Given the description of an element on the screen output the (x, y) to click on. 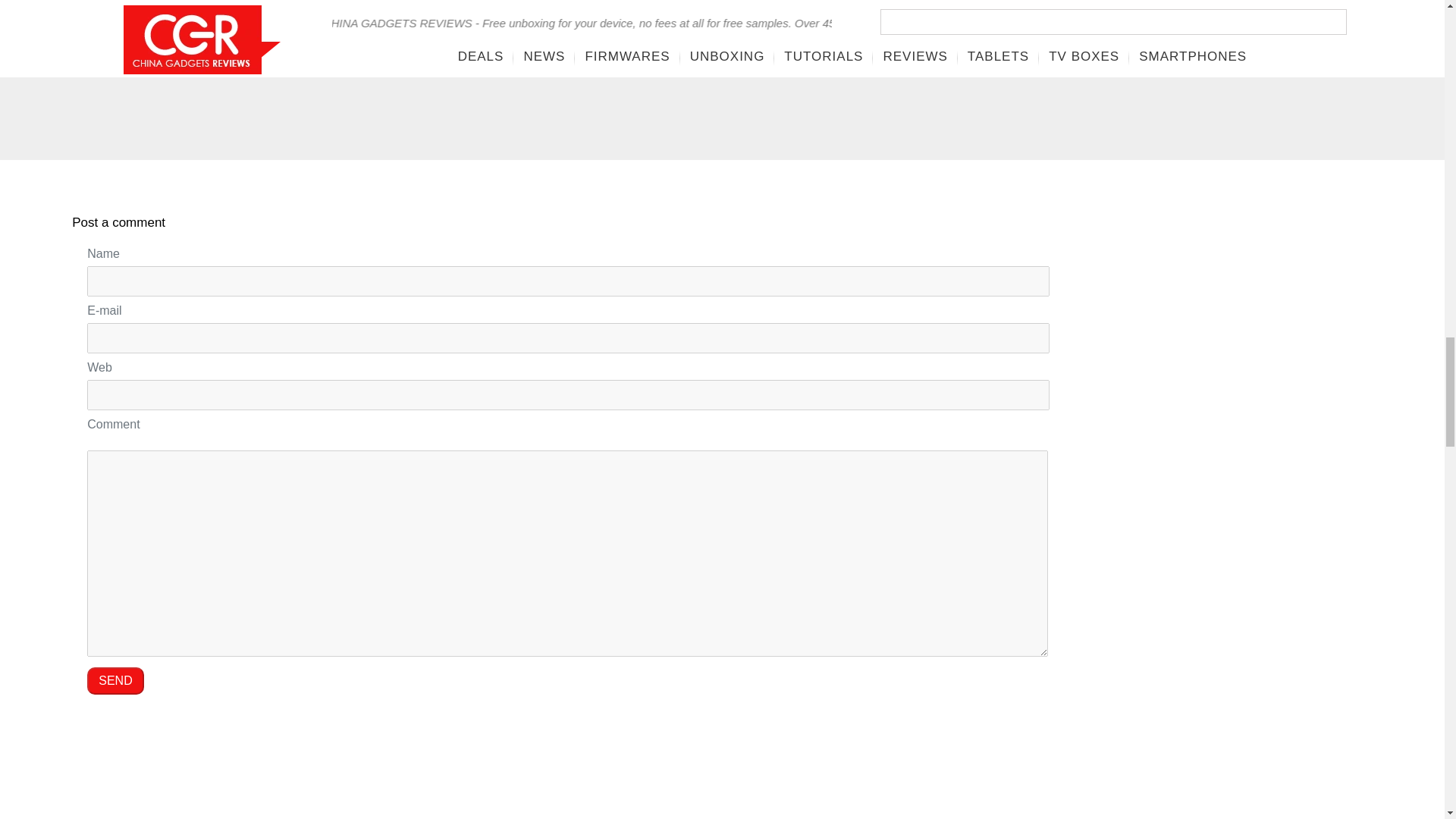
Advertisement (1267, 804)
Advertisement (1267, 539)
Advertisement (898, 68)
Advertisement (544, 68)
Advertisement (191, 68)
SEND (114, 680)
Advertisement (1252, 68)
SEND (114, 680)
